Given the description of an element on the screen output the (x, y) to click on. 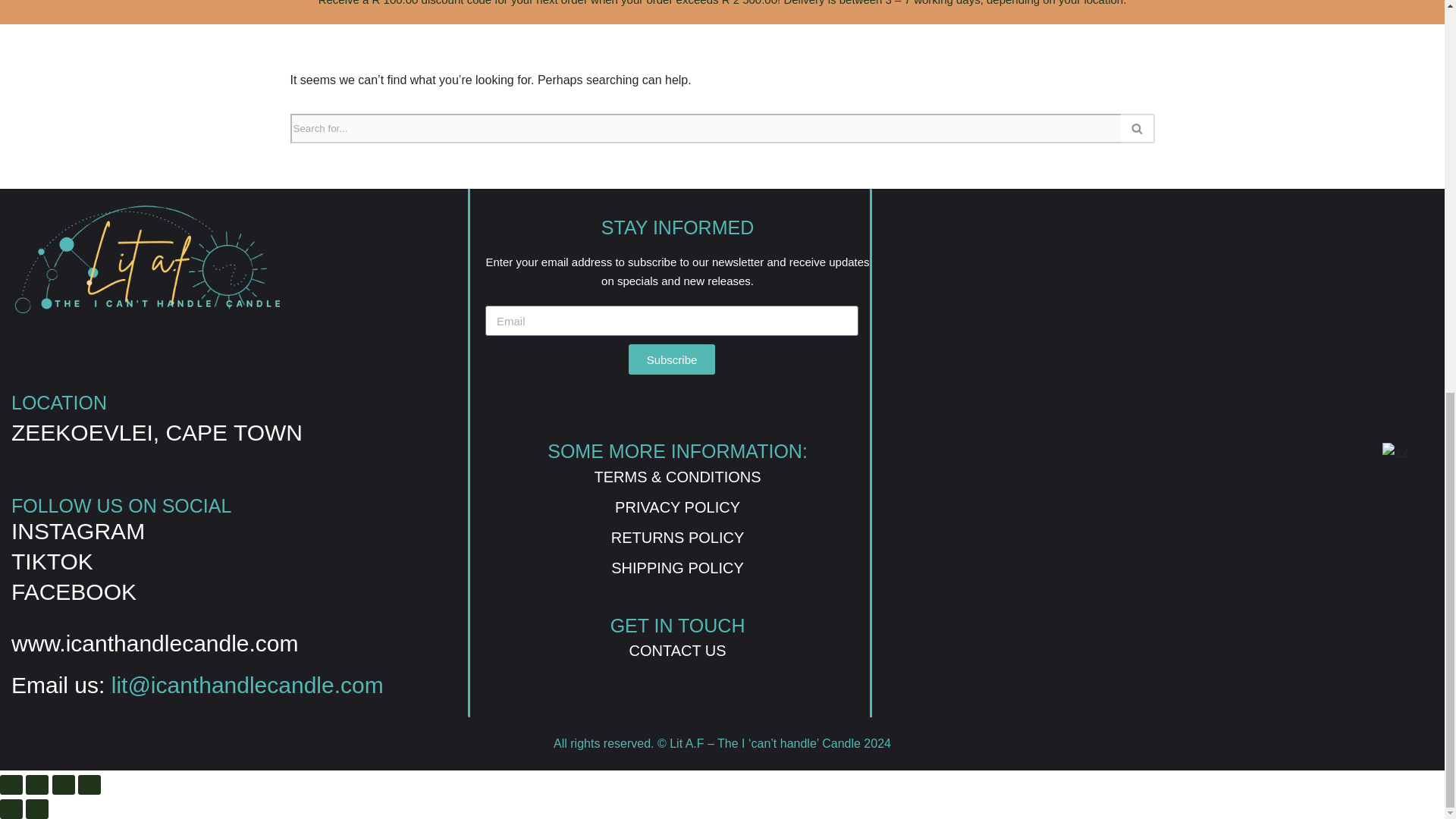
TIKTOK (52, 561)
RETURNS POLICY (677, 537)
Subscribe (672, 358)
SHIPPING POLICY (677, 567)
www.icanthandlecandle.com (154, 643)
CONTACT US (676, 650)
12 (1394, 453)
PRIVACY POLICY (676, 506)
FACEBOOK (73, 591)
INSTAGRAM (77, 530)
